Given the description of an element on the screen output the (x, y) to click on. 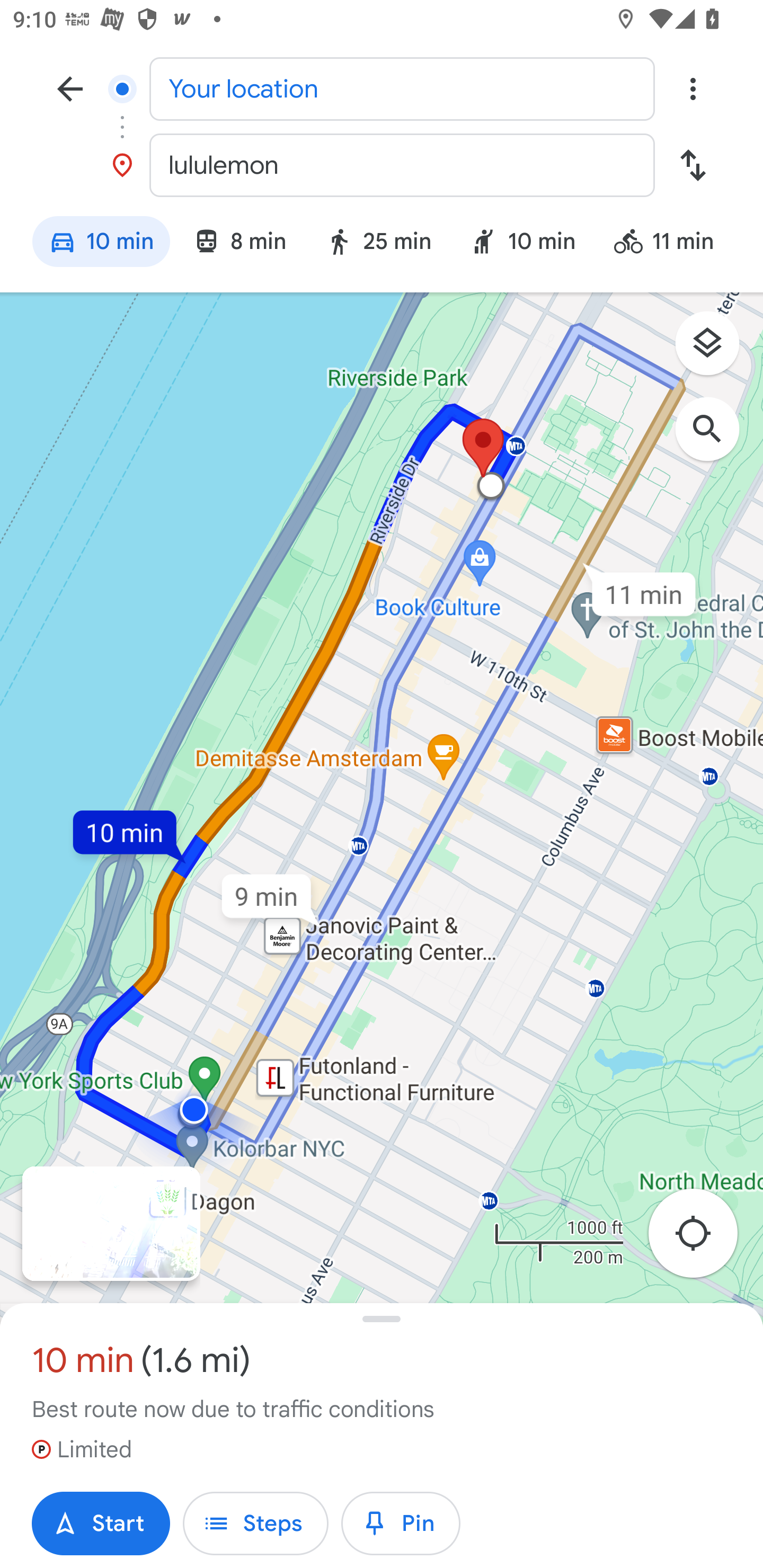
Navigate up (70, 88)
Your location Start location, Your location (381, 88)
Overflow menu (692, 88)
lululemon Destination, lululemon (381, 165)
Swap start and destination (692, 165)
Transit mode: 8 min 8 min (239, 244)
Walking mode: 25 min 25 min (377, 244)
Ride service: 10 min 10 min (522, 244)
Bicycling mode: 11 min 11 min (672, 244)
Layers (716, 349)
Search along route (716, 438)
Open Immersive View for routes (110, 1223)
Re-center map to your location (702, 1238)
Steps Steps Steps (255, 1522)
Pin trip Pin Pin trip (400, 1522)
